Given the description of an element on the screen output the (x, y) to click on. 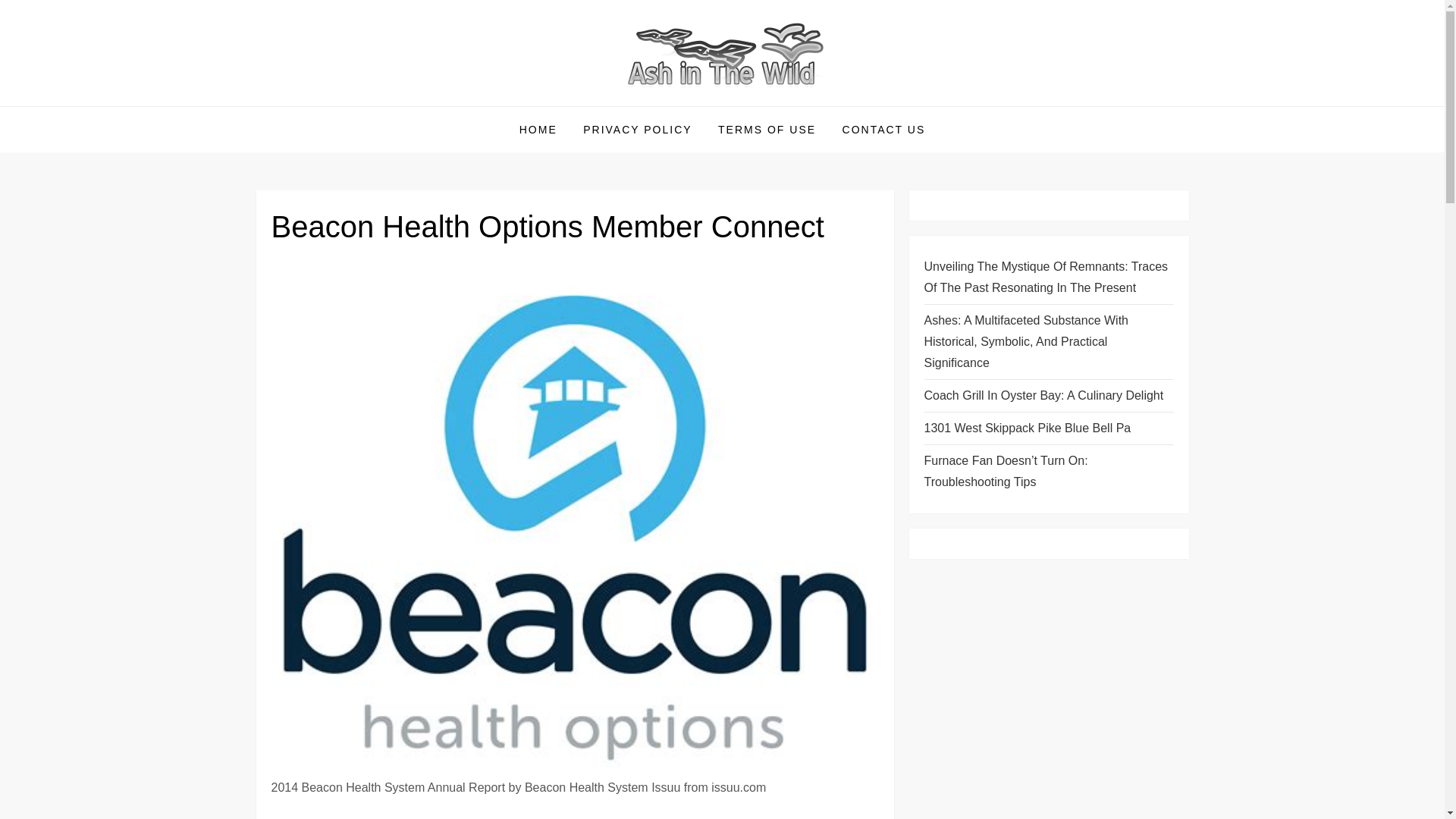
TERMS OF USE (766, 129)
PRIVACY POLICY (637, 129)
1301 West Skippack Pike Blue Bell Pa (1027, 427)
Ash in The Wild (361, 105)
HOME (538, 129)
CONTACT US (884, 129)
Coach Grill In Oyster Bay: A Culinary Delight (1043, 395)
